Given the description of an element on the screen output the (x, y) to click on. 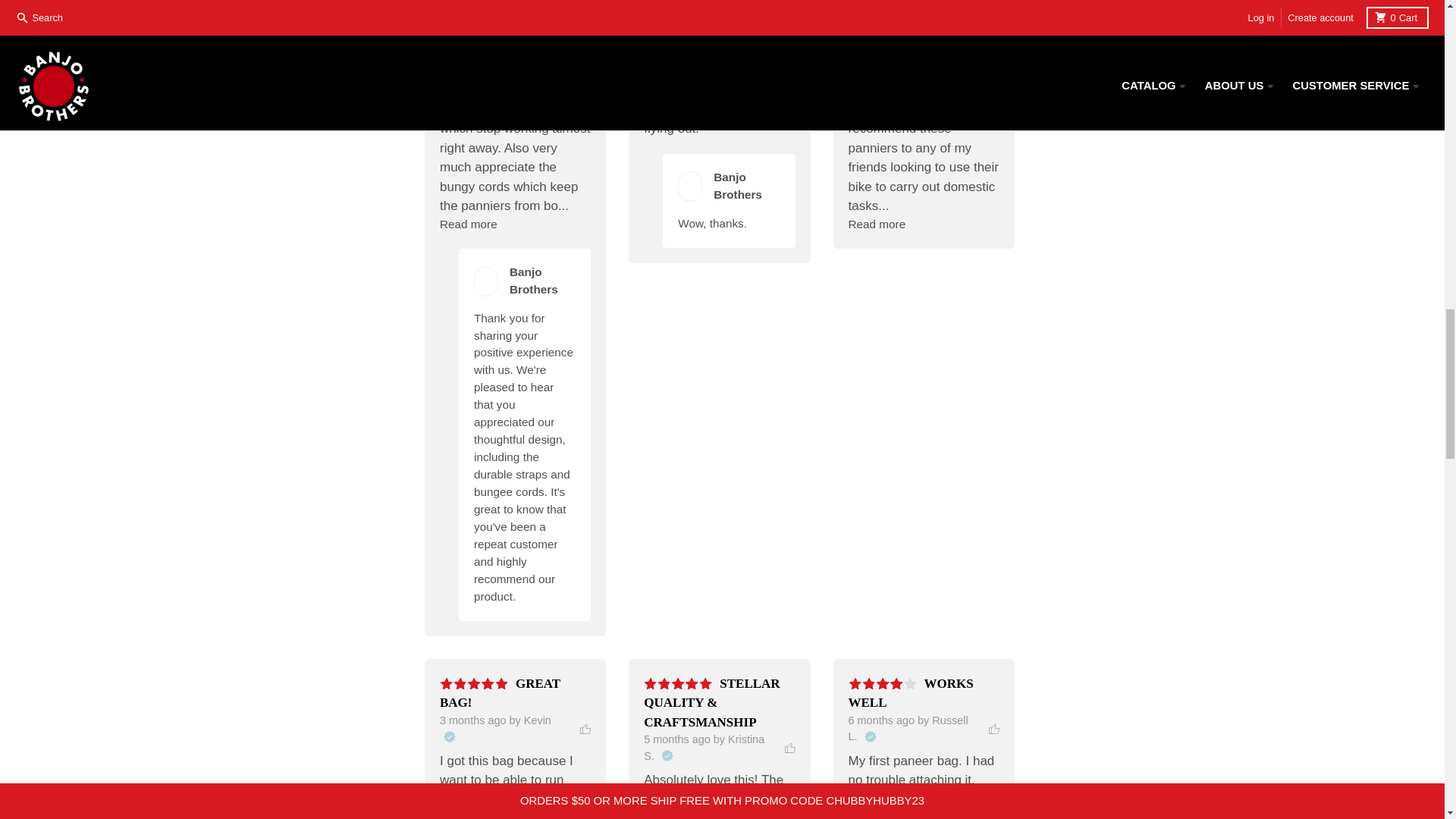
Verified review (666, 756)
Verified review (869, 736)
Verified review (448, 736)
